Given the description of an element on the screen output the (x, y) to click on. 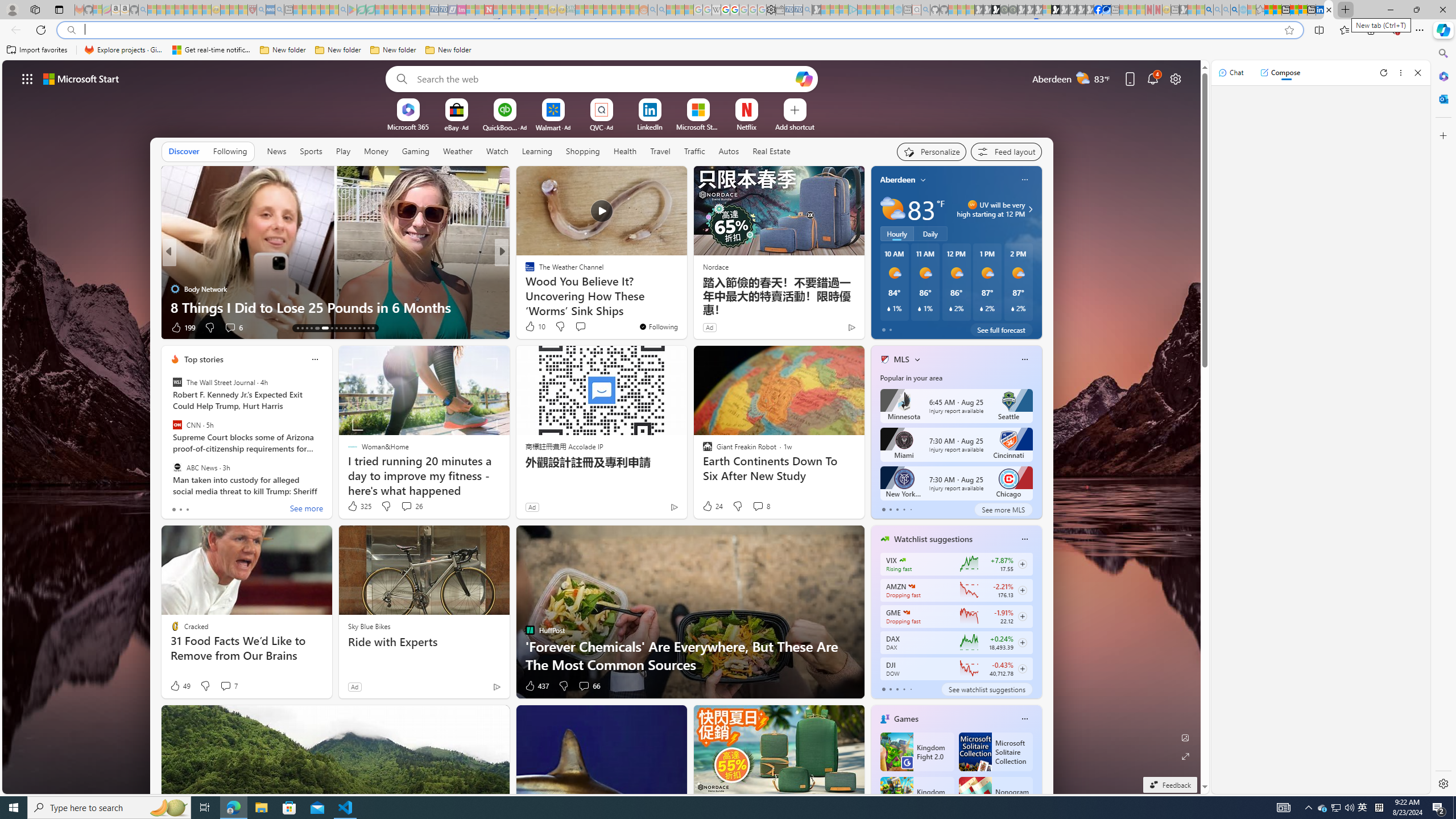
Learning (536, 151)
Daily (929, 233)
Future Focus Report 2024 - Sleeping (1012, 9)
LinkedIn (1319, 9)
Netflix (746, 126)
Microsoft Solitaire Collection (995, 751)
